Given the description of an element on the screen output the (x, y) to click on. 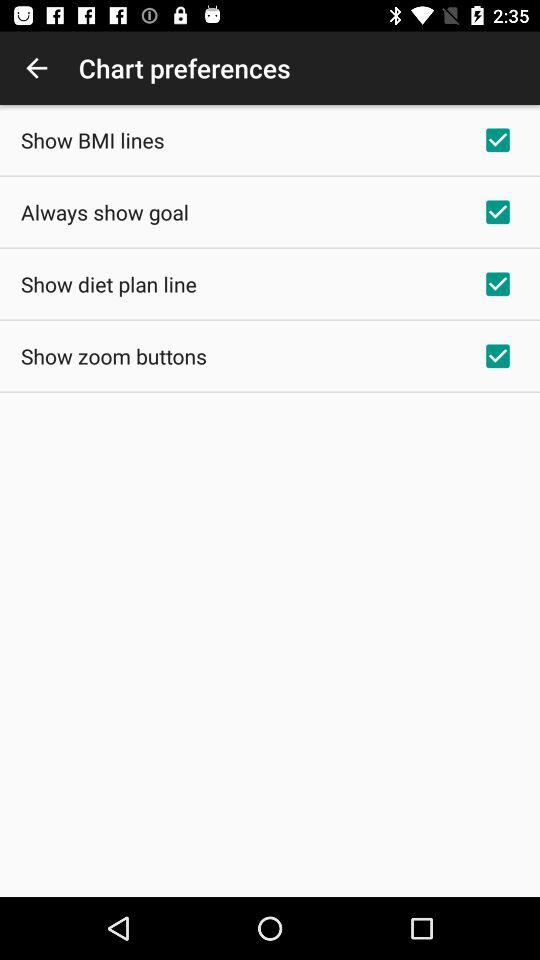
choose the item above the show diet plan app (104, 211)
